Given the description of an element on the screen output the (x, y) to click on. 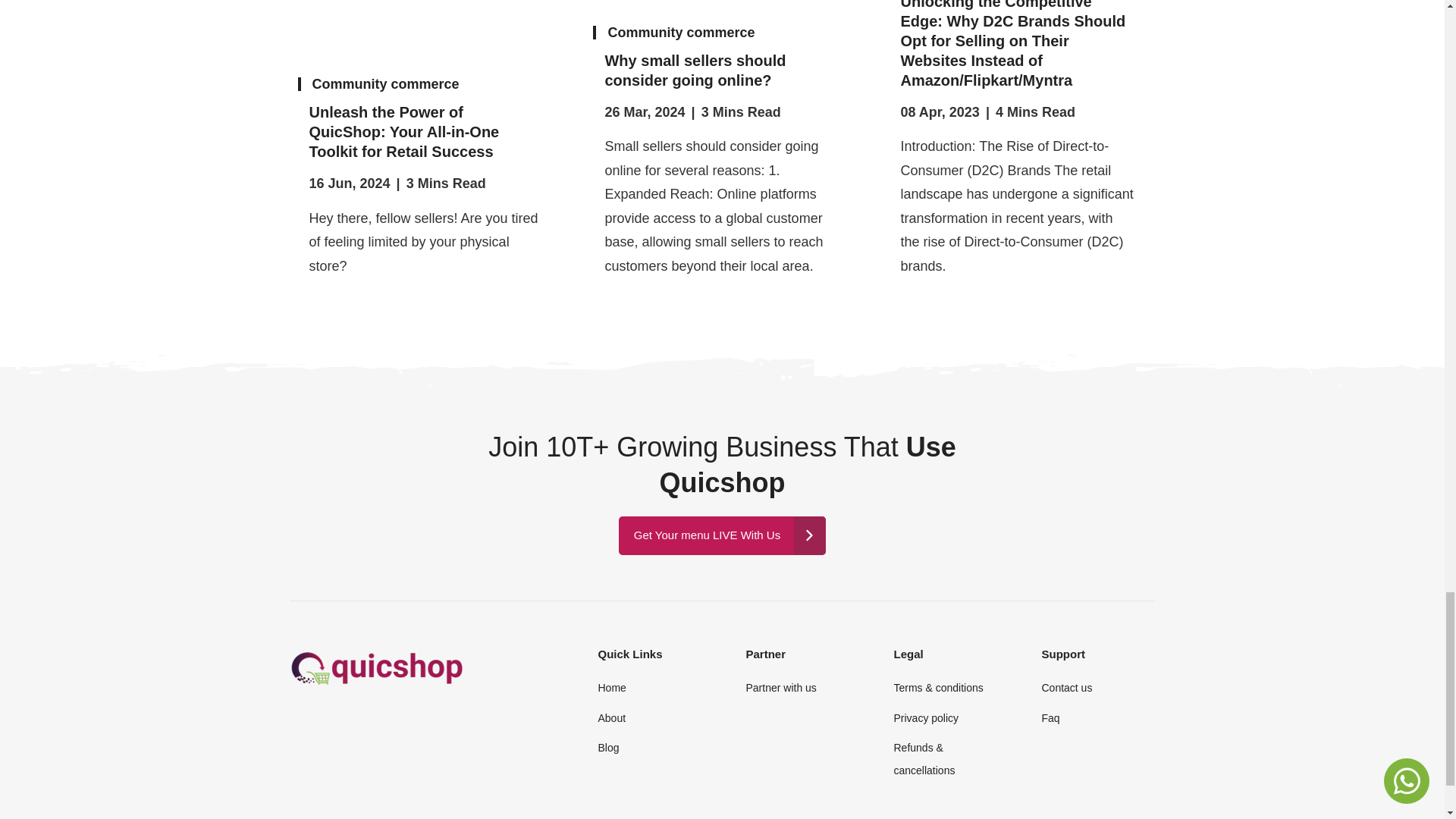
Get Your menu LIVE With Us (721, 535)
Why small sellers should consider going online? (722, 70)
Faq (1050, 717)
About (611, 717)
Privacy policy (925, 717)
Partner with us (780, 687)
Blog (607, 747)
Community commerce (680, 32)
Home (611, 687)
Contact us (1066, 687)
Community commerce (386, 83)
